Given the description of an element on the screen output the (x, y) to click on. 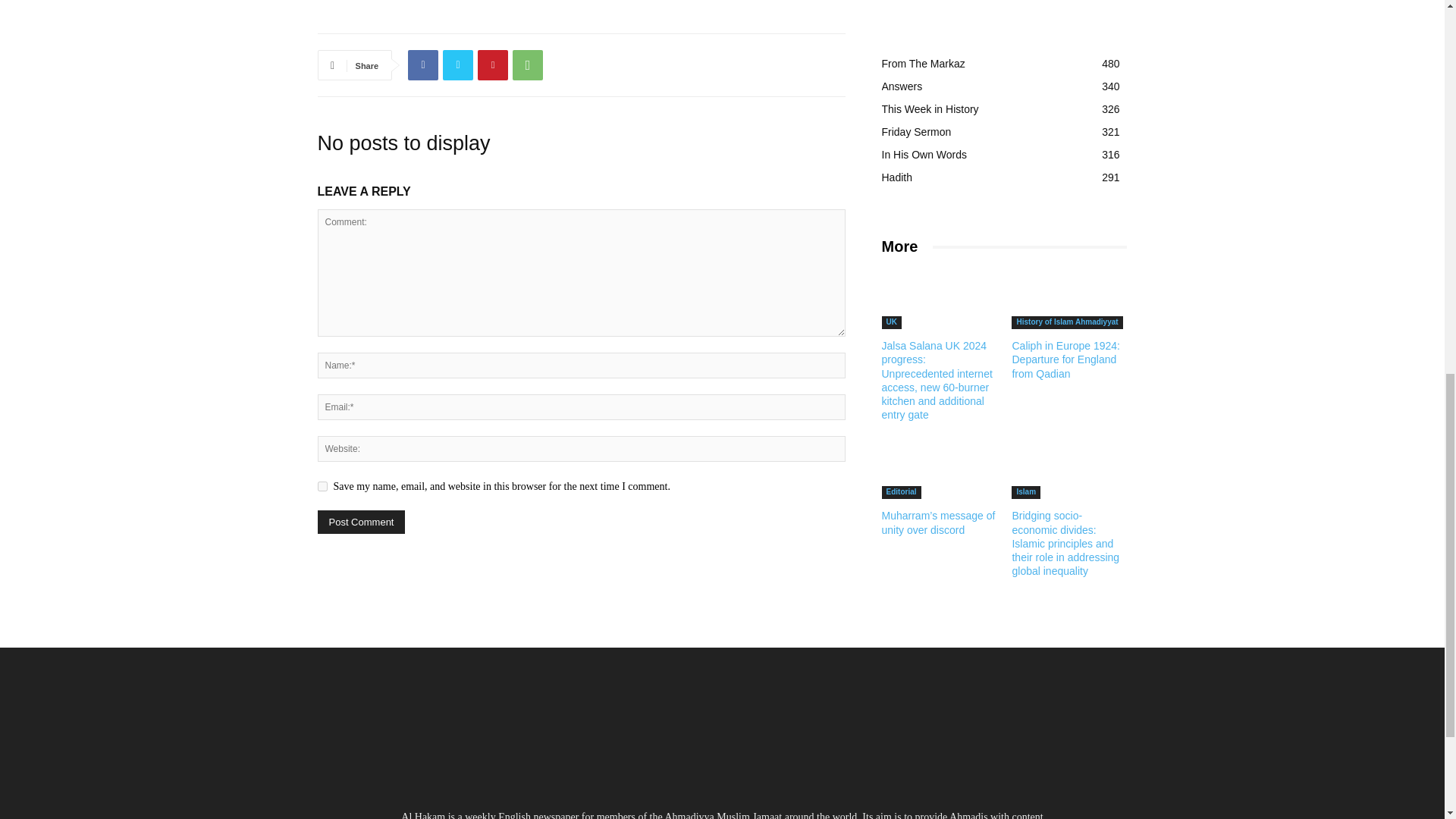
Twitter (457, 64)
Post Comment (360, 521)
yes (321, 486)
Pinterest (492, 64)
Facebook (422, 64)
WhatsApp (527, 64)
